Given the description of an element on the screen output the (x, y) to click on. 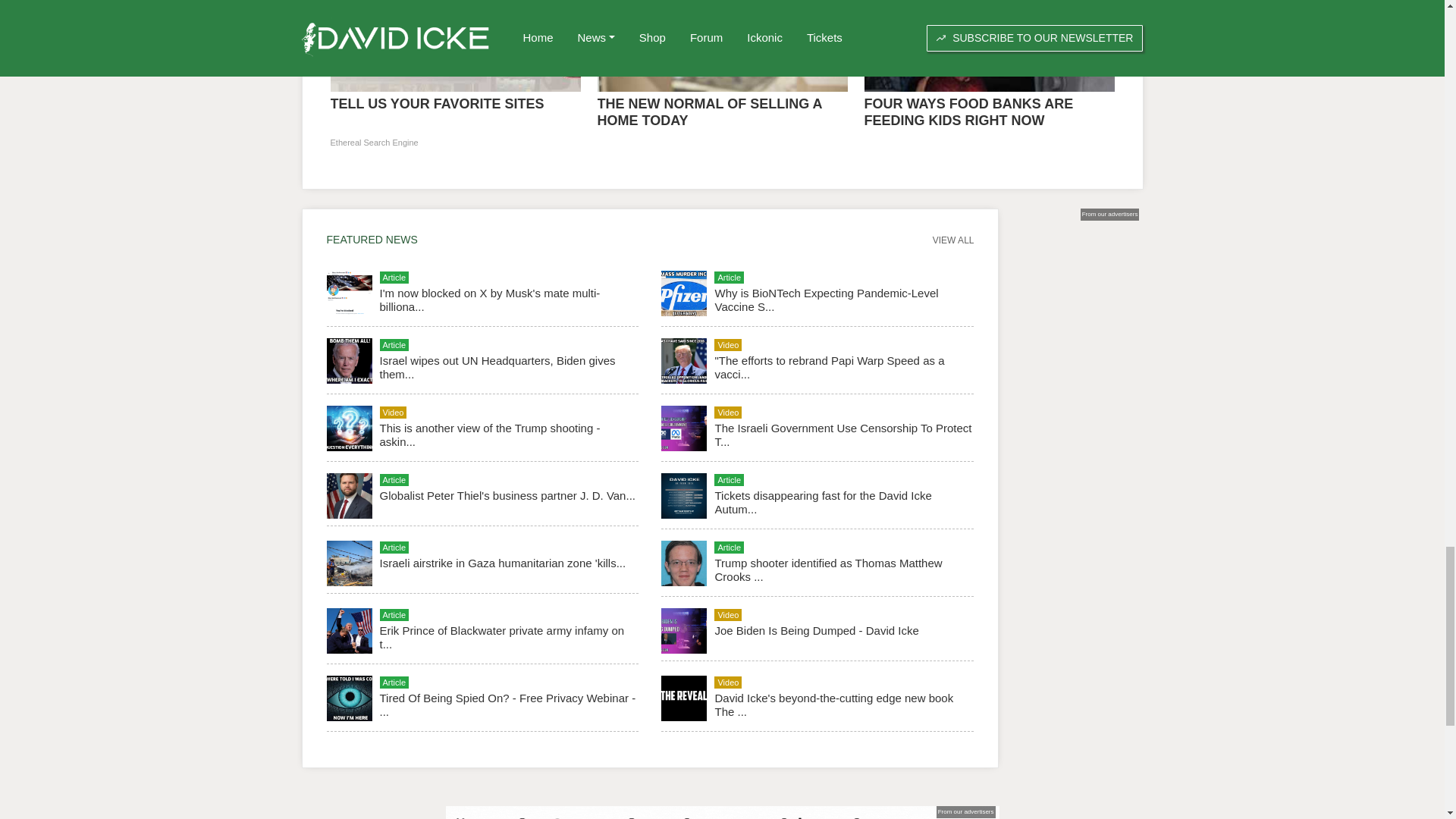
Israel wipes out UN Headquarters, Biden gives them the bombs (496, 366)
